Given the description of an element on the screen output the (x, y) to click on. 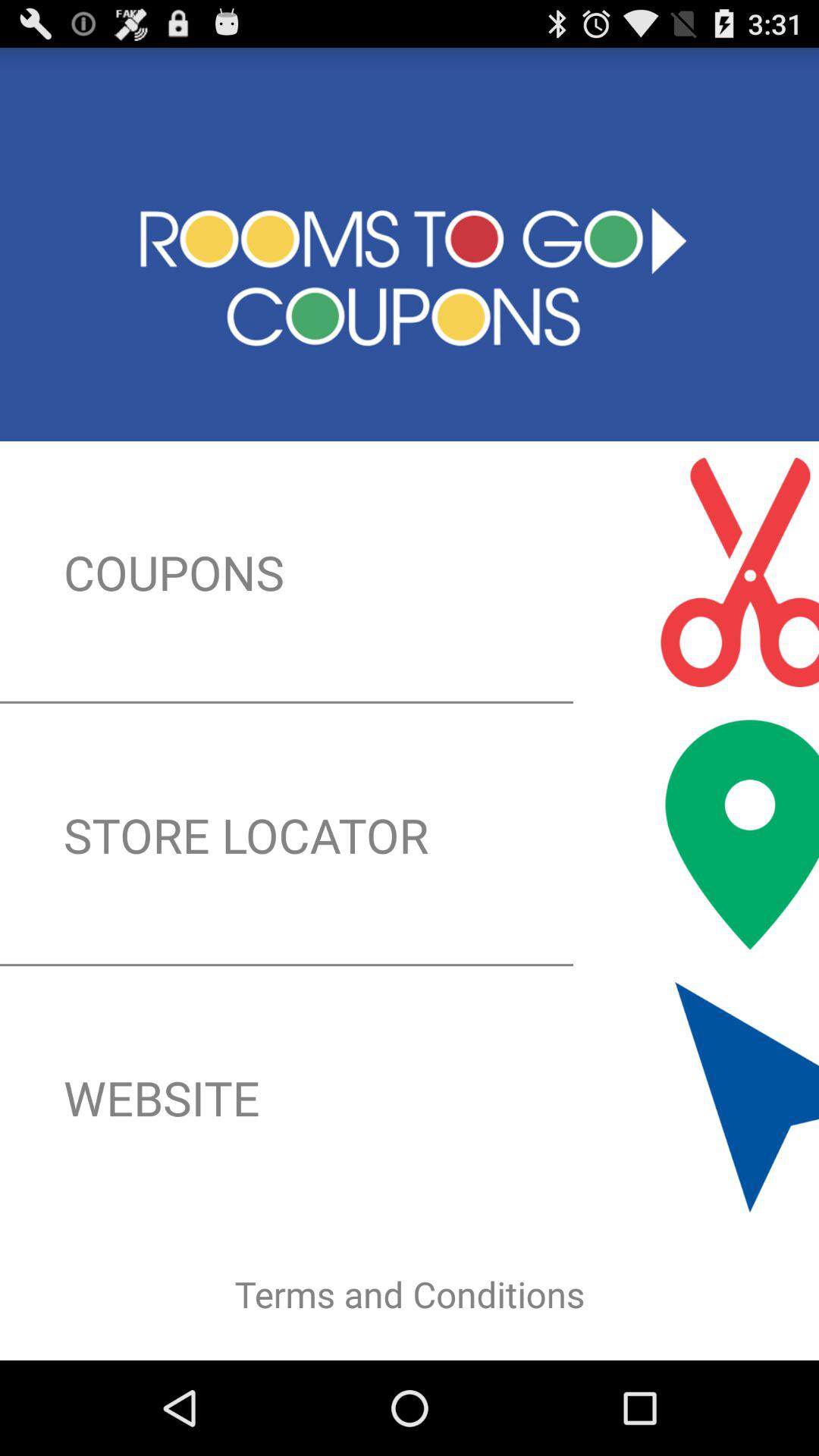
choose the icon below coupons (409, 834)
